Given the description of an element on the screen output the (x, y) to click on. 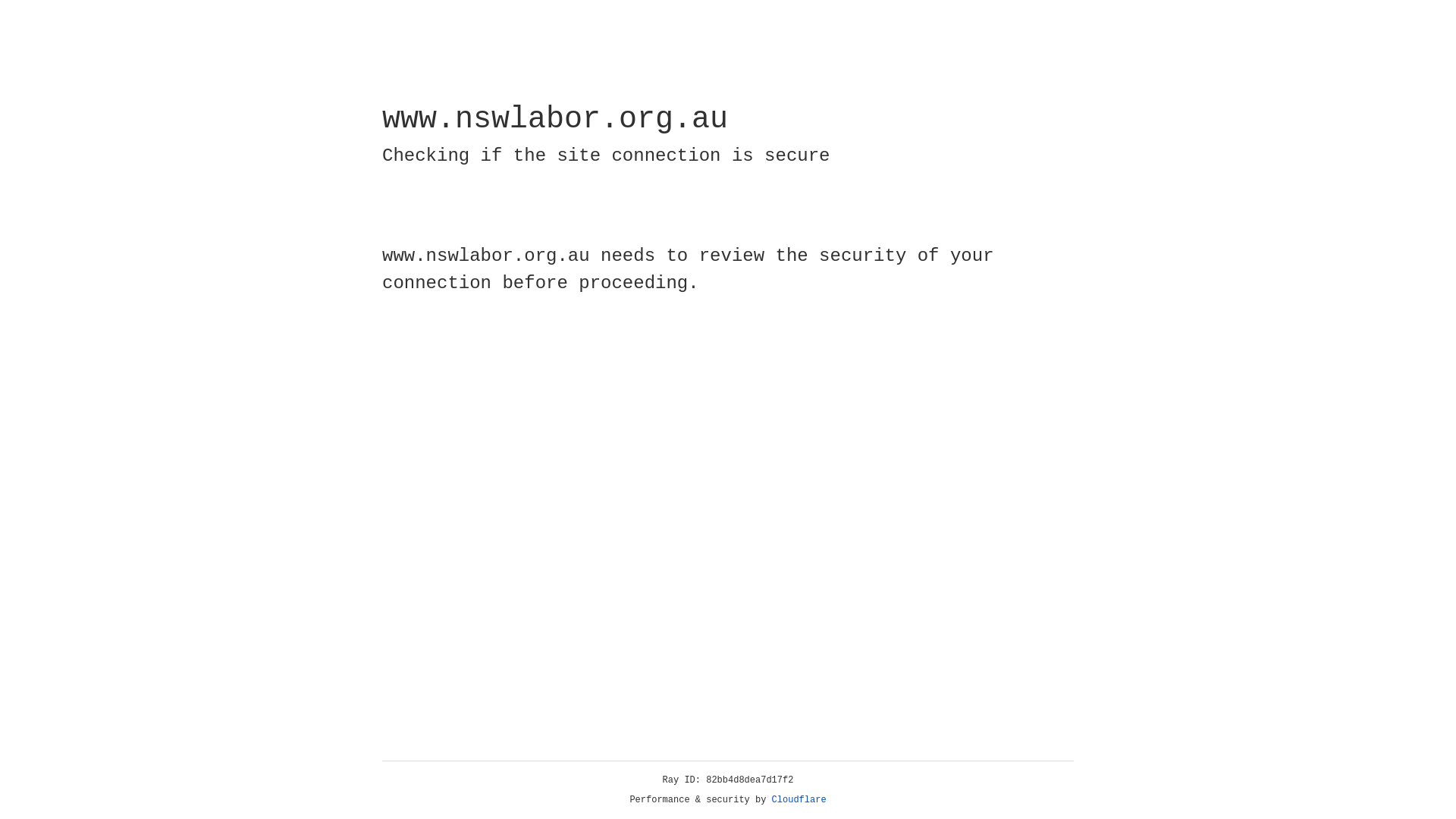
Cloudflare Element type: text (798, 799)
